Given the description of an element on the screen output the (x, y) to click on. 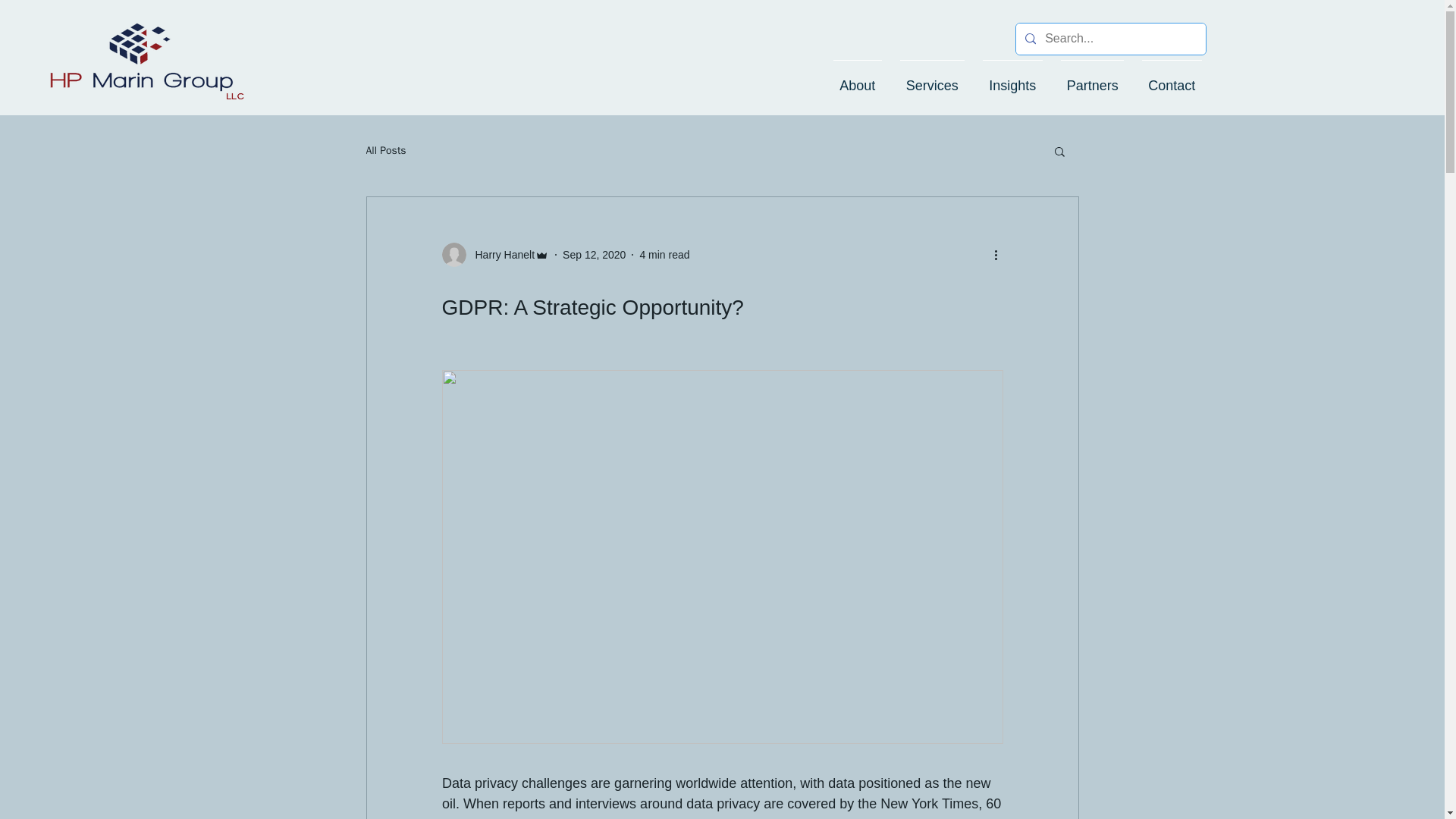
4 min read (663, 254)
Harry Hanelt (494, 254)
All Posts (385, 151)
About (857, 78)
Services (932, 78)
Insights (1012, 78)
Contact (1171, 78)
Sep 12, 2020 (594, 254)
Partners (1091, 78)
Harry Hanelt (499, 254)
